Given the description of an element on the screen output the (x, y) to click on. 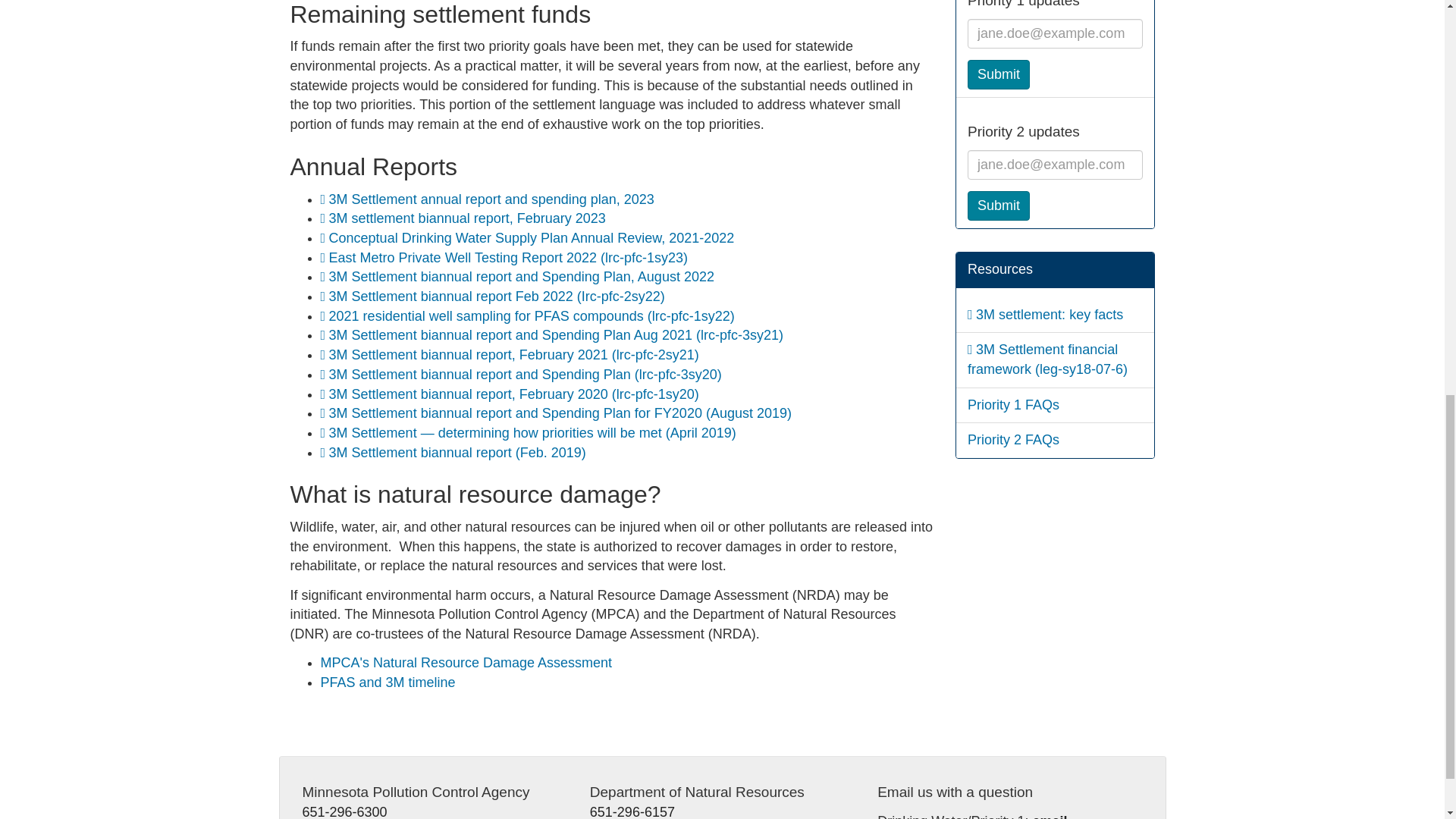
Open file in new window (560, 412)
Open file in new window (532, 432)
Open file in new window (1048, 314)
3M Settlement annual report and spending plan, 2023 (491, 199)
Open file in new window (457, 452)
Open file in new window (532, 237)
Priority 2 FAQs (1013, 439)
Submit (998, 74)
Open file in new window (525, 374)
3M settlement biannual report, February 2023 (467, 218)
3M settlement: key facts (1048, 314)
Open file in new window (513, 394)
MPCA's Natural Resource Damage Assessment (465, 662)
Open file in new window (532, 315)
